Given the description of an element on the screen output the (x, y) to click on. 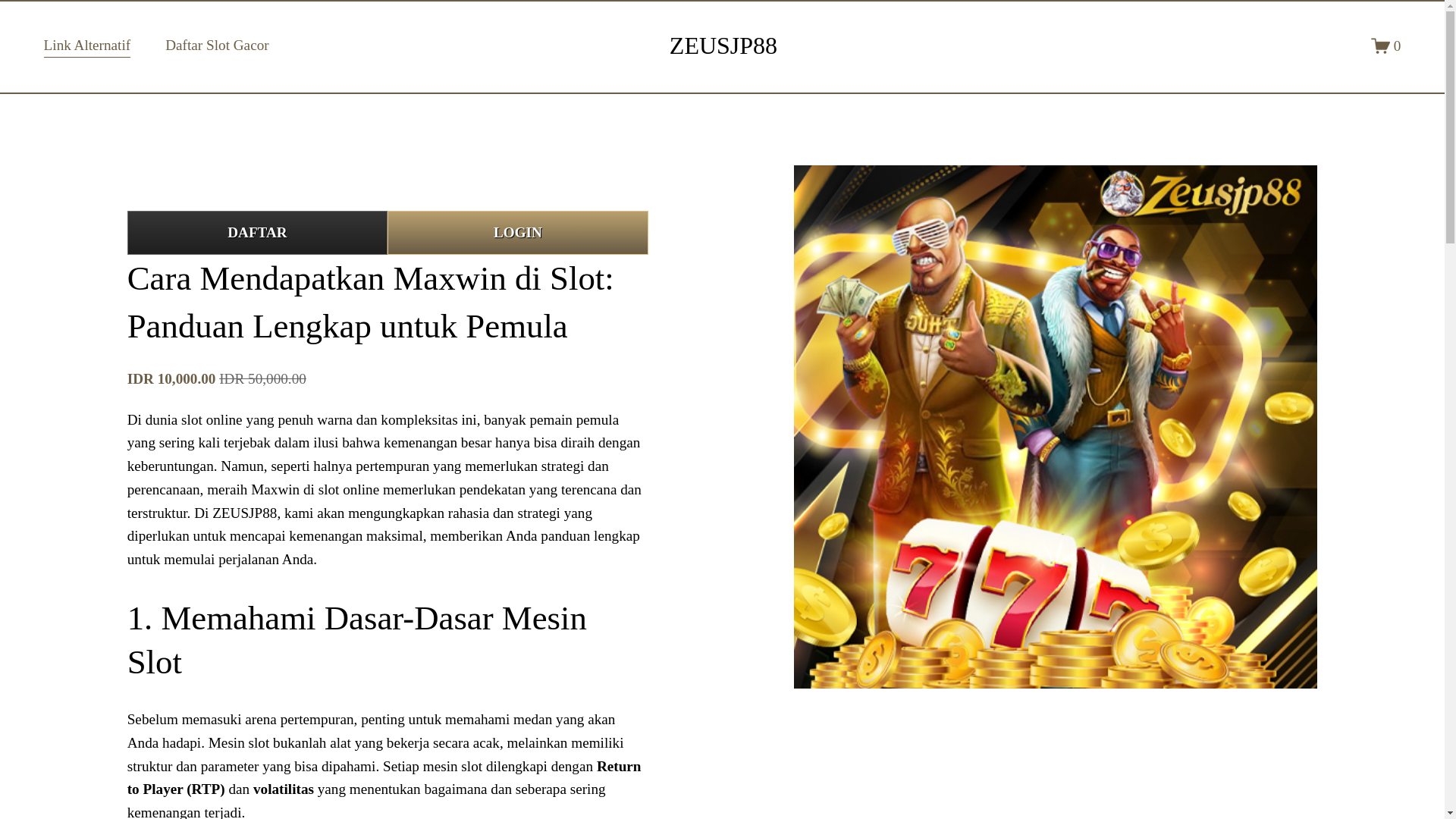
DAFTAR (257, 232)
LOGIN (517, 232)
ZEUSJP88 (723, 44)
Link Alternatif (87, 46)
Daftar Slot Gacor (216, 46)
0 (1385, 45)
